Given the description of an element on the screen output the (x, y) to click on. 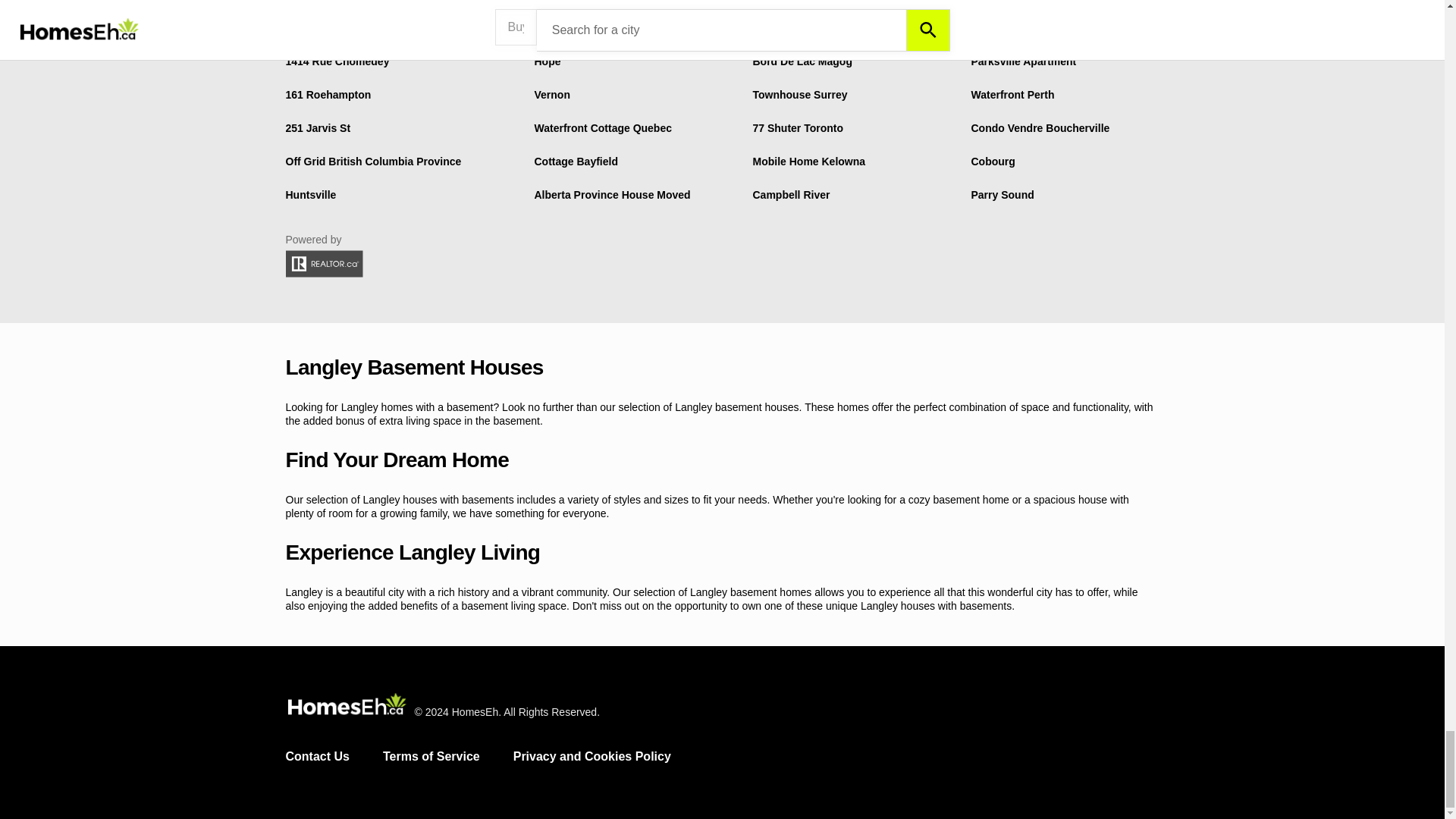
HomesEh (345, 705)
